Given the description of an element on the screen output the (x, y) to click on. 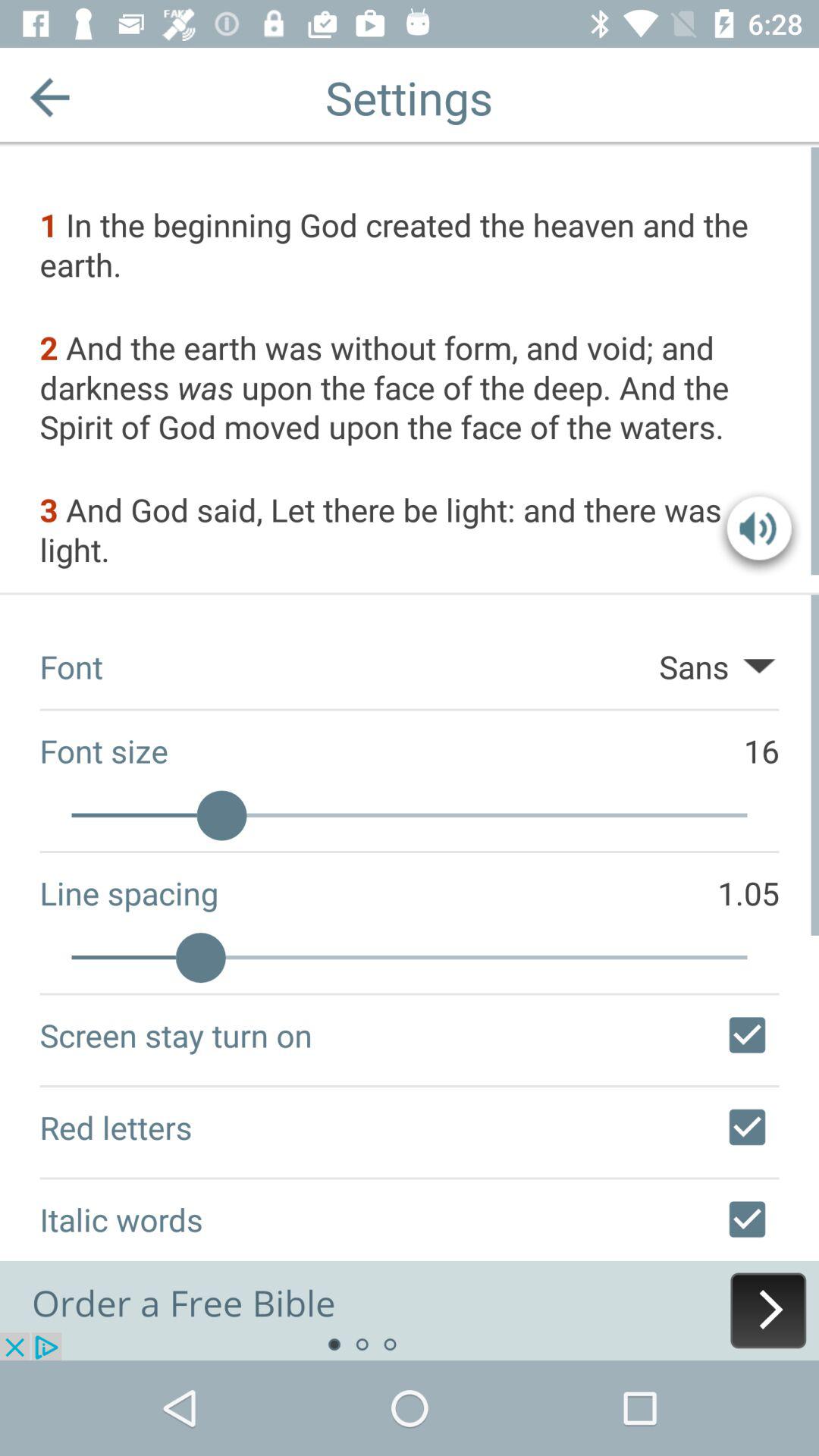
previous (49, 97)
